Given the description of an element on the screen output the (x, y) to click on. 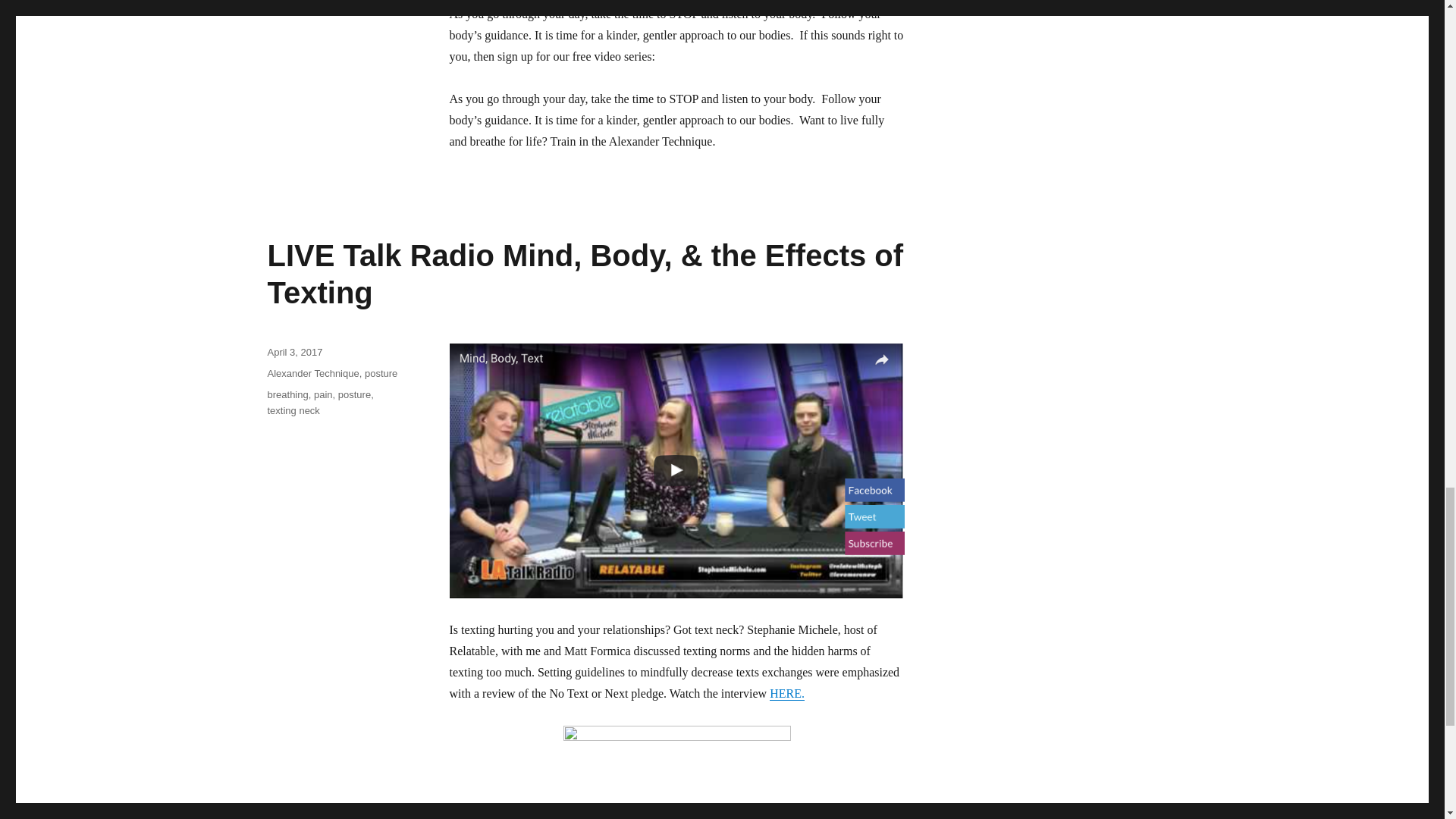
pain (323, 394)
Alexander Technique (312, 373)
April 3, 2017 (293, 351)
posture (381, 373)
HERE. (787, 693)
breathing (286, 394)
